Given the description of an element on the screen output the (x, y) to click on. 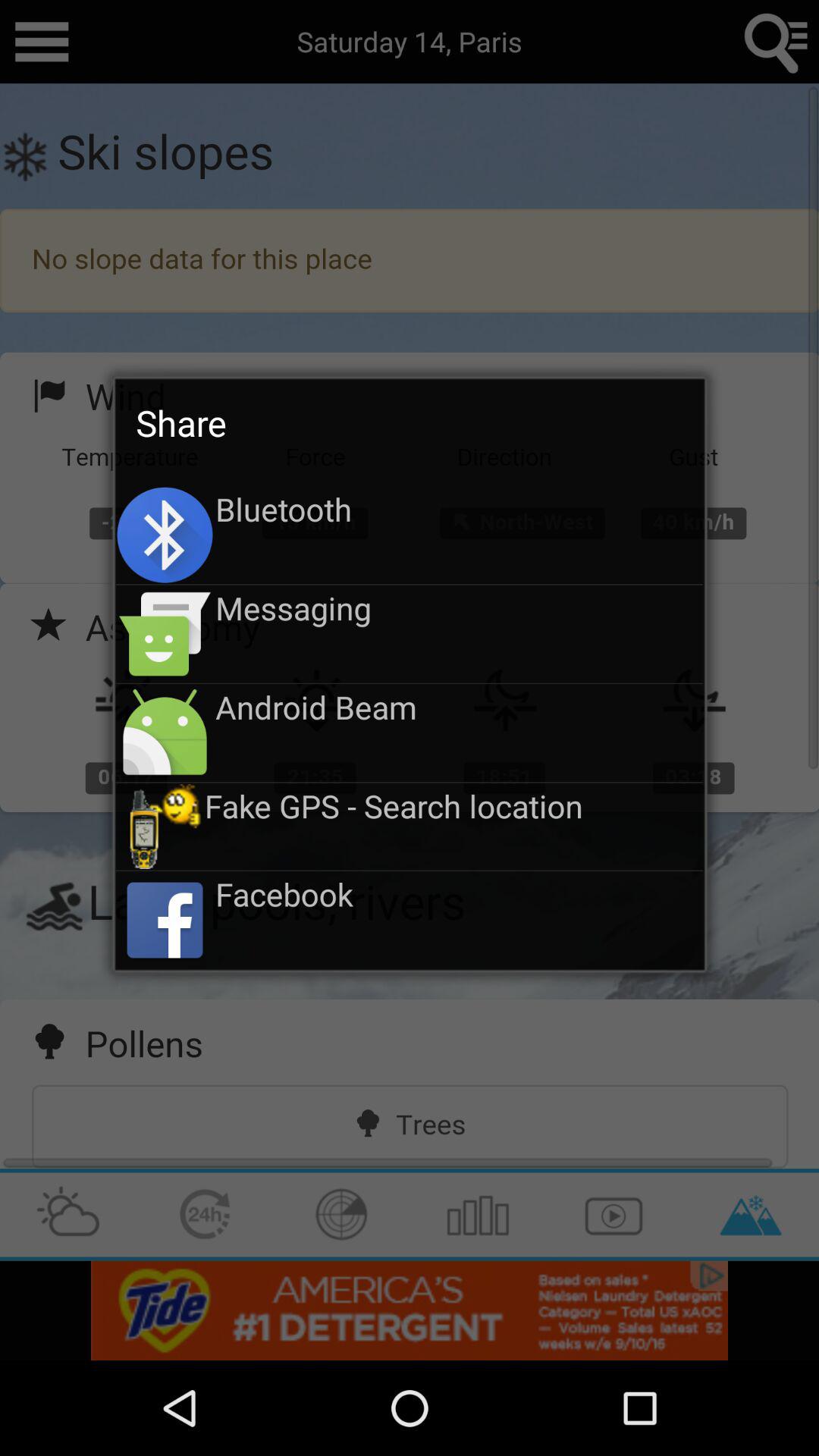
launch the fake gps search (453, 805)
